Given the description of an element on the screen output the (x, y) to click on. 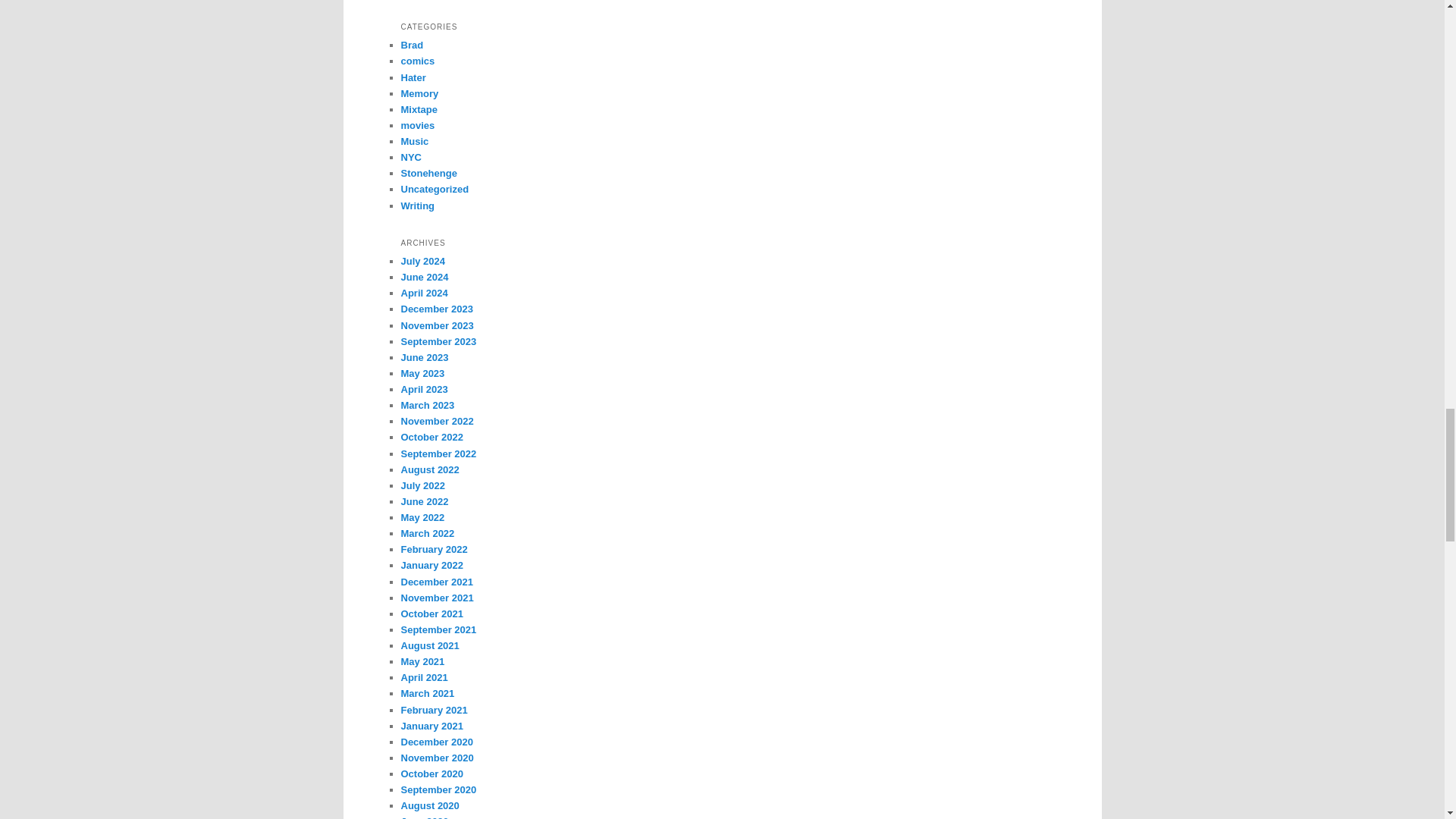
March 2023 (427, 405)
Music (414, 141)
Brad (411, 44)
December 2023 (435, 308)
November 2023 (436, 325)
Uncategorized (434, 188)
Stonehenge (428, 173)
May 2023 (422, 373)
NYC (410, 156)
July 2024 (422, 260)
comics (416, 60)
Mixtape (418, 109)
movies (416, 125)
Hater (412, 77)
June 2024 (424, 276)
